Given the description of an element on the screen output the (x, y) to click on. 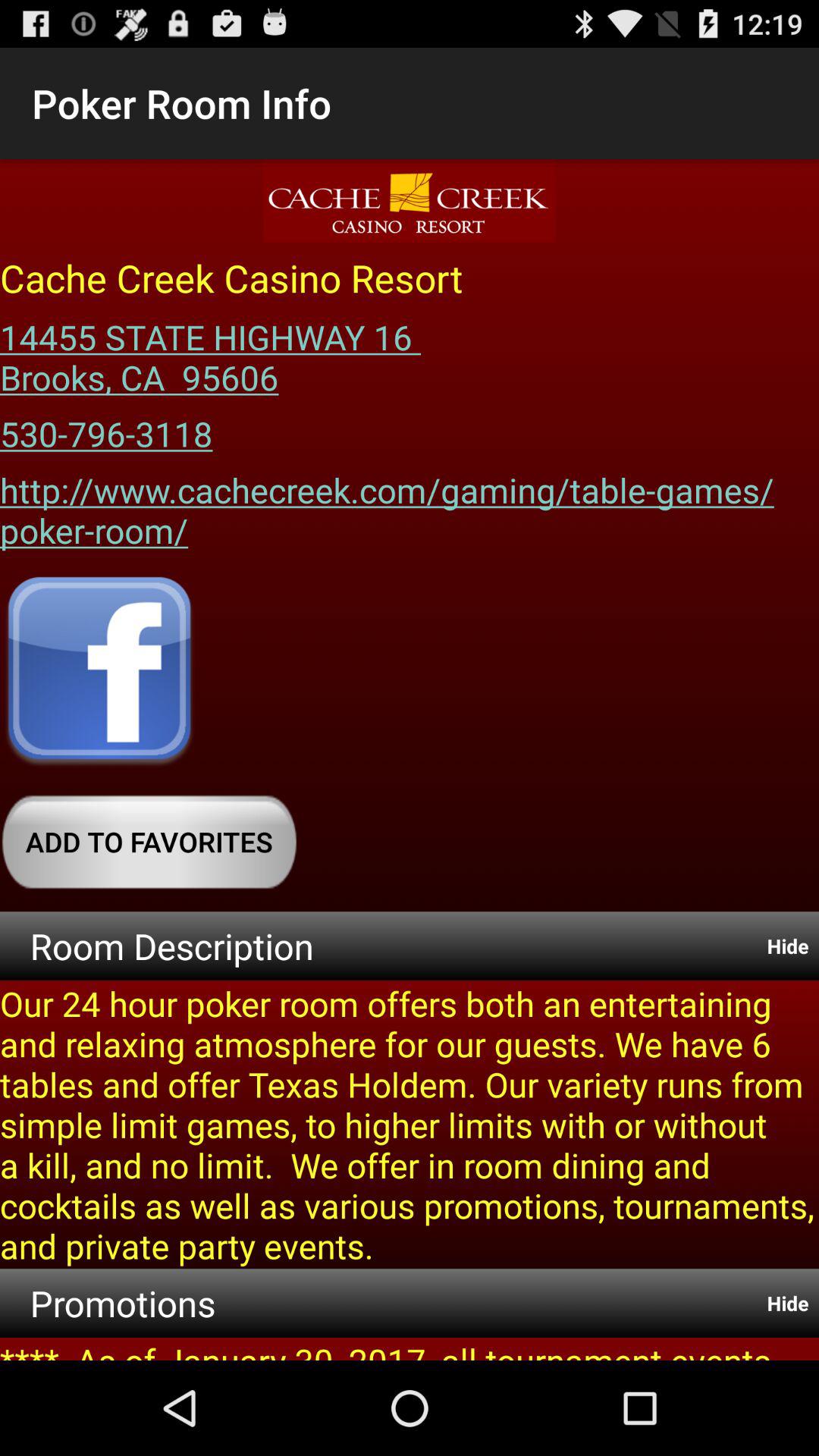
tap icon above the http www cachecreek app (106, 428)
